Given the description of an element on the screen output the (x, y) to click on. 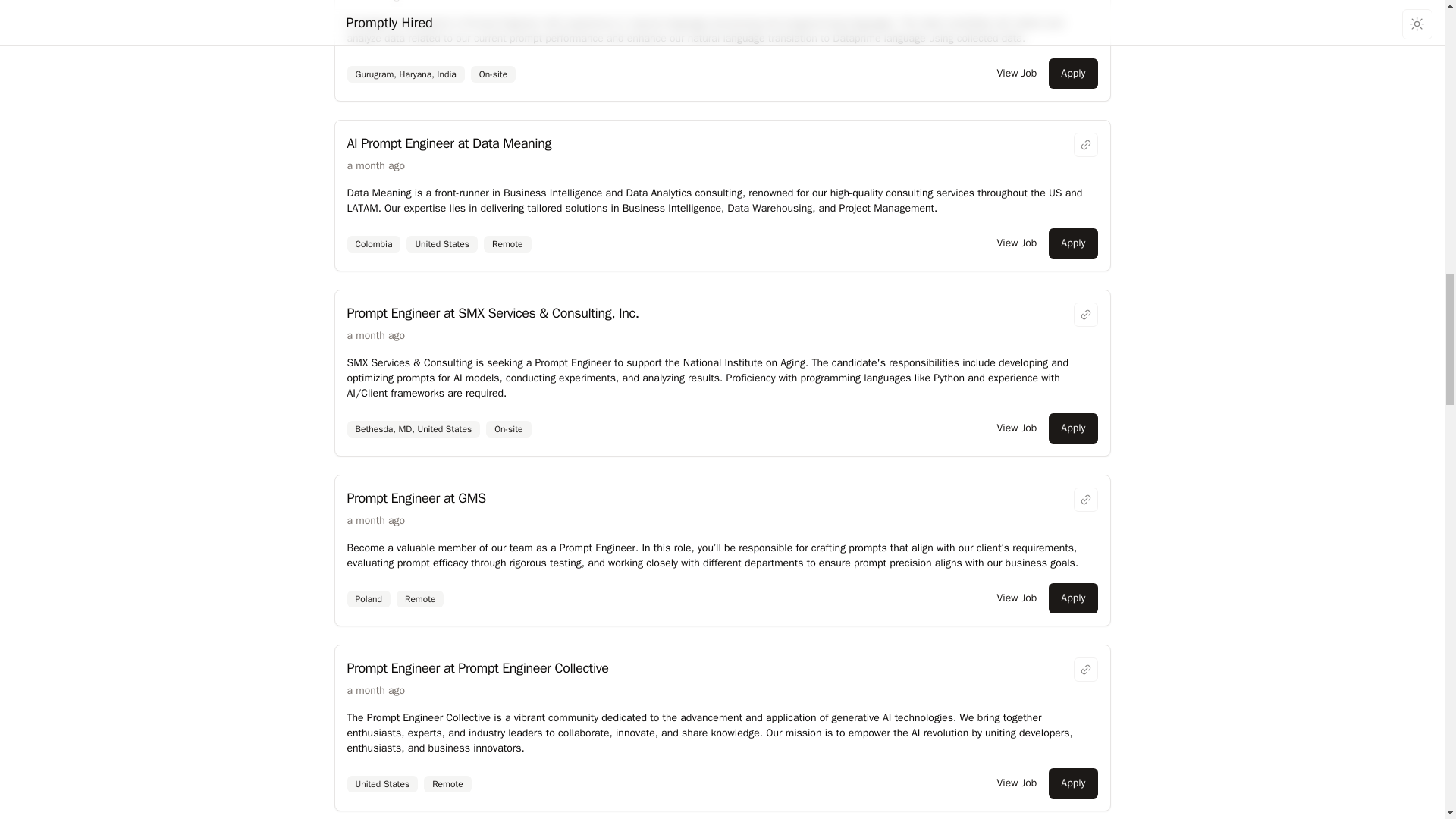
Posted on June 28, 2024 (376, 1)
On-site (492, 74)
Apply (1072, 73)
Posted on June 26, 2024 (376, 520)
Copy (1085, 144)
Posted on June 27, 2024 (376, 335)
Posted on June 26, 2024 (376, 689)
Remote (507, 243)
Posted on June 28, 2024 (376, 164)
View Job (1016, 73)
